Given the description of an element on the screen output the (x, y) to click on. 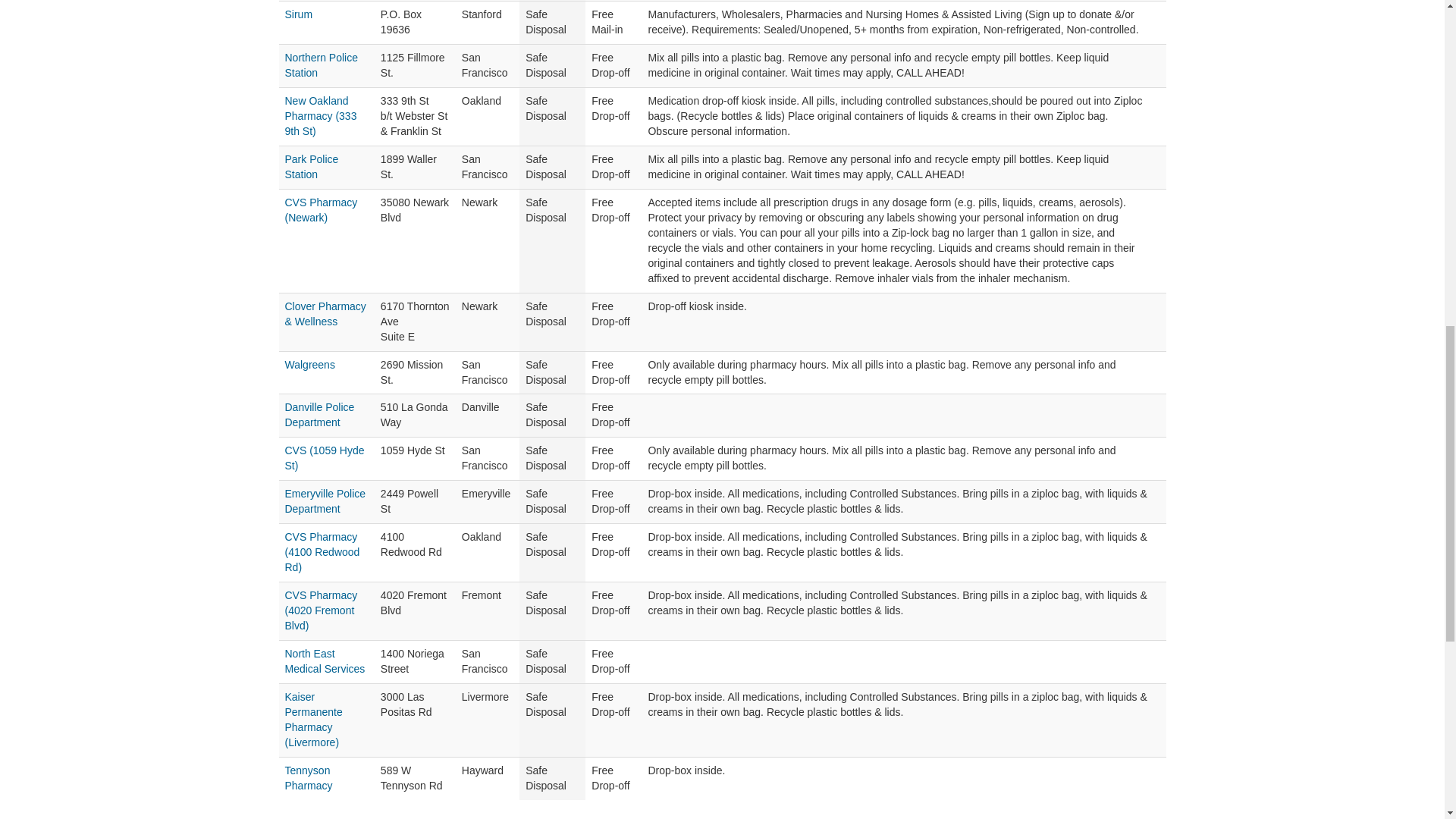
Northern Police Station (321, 64)
Emeryville Police Department (325, 501)
Park Police Station (312, 166)
Walgreens (309, 364)
Danville Police Department (320, 414)
North East Medical Services (325, 660)
Sirum (299, 14)
Tennyson Pharmacy (309, 777)
